Given the description of an element on the screen output the (x, y) to click on. 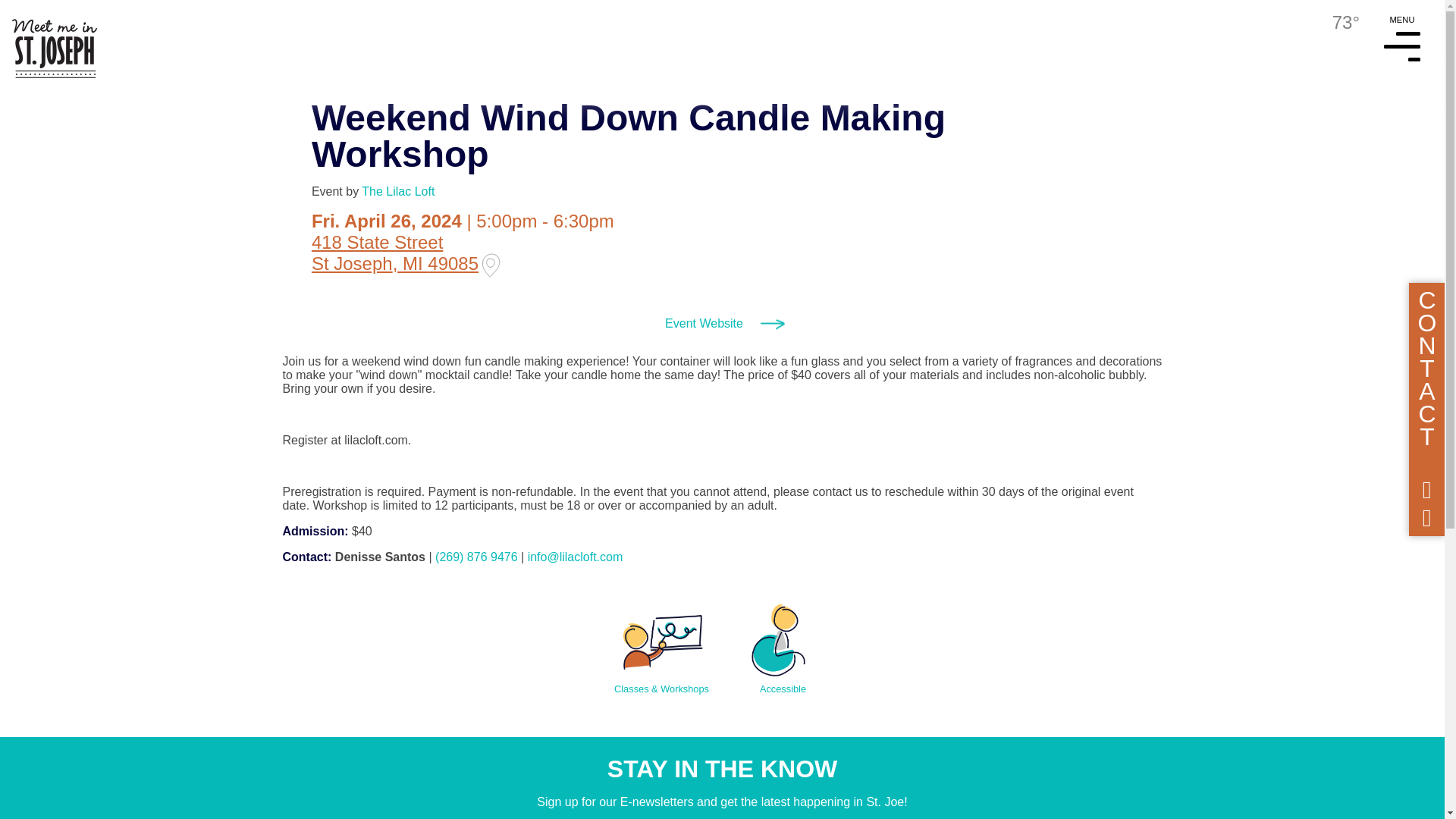
Accessible (783, 640)
HOME (48, 39)
Weather (1333, 22)
